Given the description of an element on the screen output the (x, y) to click on. 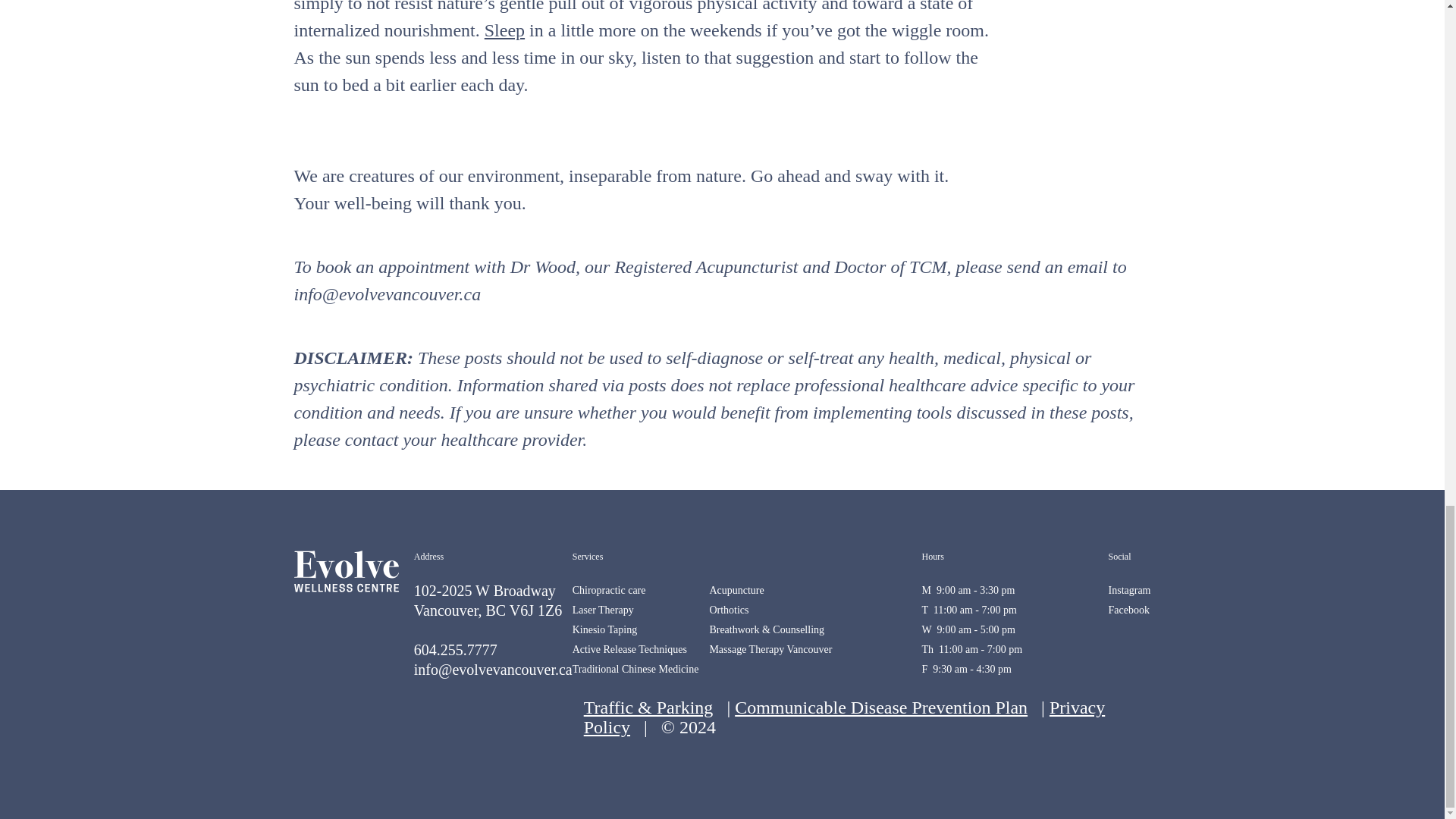
Massage Therapy Vancouver (770, 649)
Privacy Policy (844, 717)
Orthotics (728, 609)
Kinesio Taping (604, 629)
Instagram (1129, 590)
Communicable Disease Prevention Plan (881, 707)
Active Release Techniques (629, 649)
Laser Therapy (602, 609)
Facebook (1129, 609)
Traditional Chinese Medicine (635, 668)
